Given the description of an element on the screen output the (x, y) to click on. 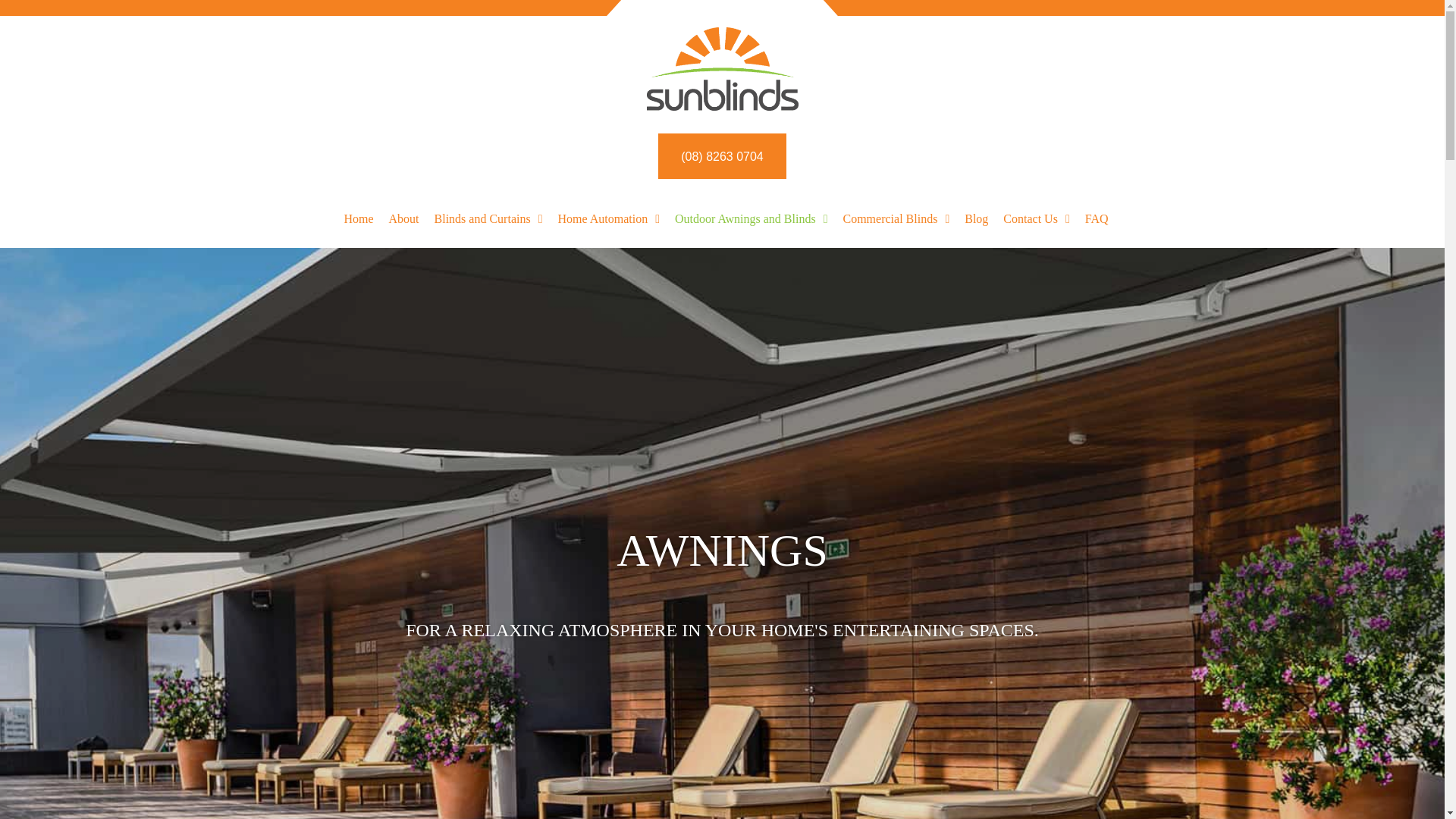
Home (357, 218)
Commercial Blinds (896, 218)
Home Automation (609, 218)
Blinds and Curtains (488, 218)
Outdoor Awnings and Blinds (751, 218)
About (403, 218)
